Given the description of an element on the screen output the (x, y) to click on. 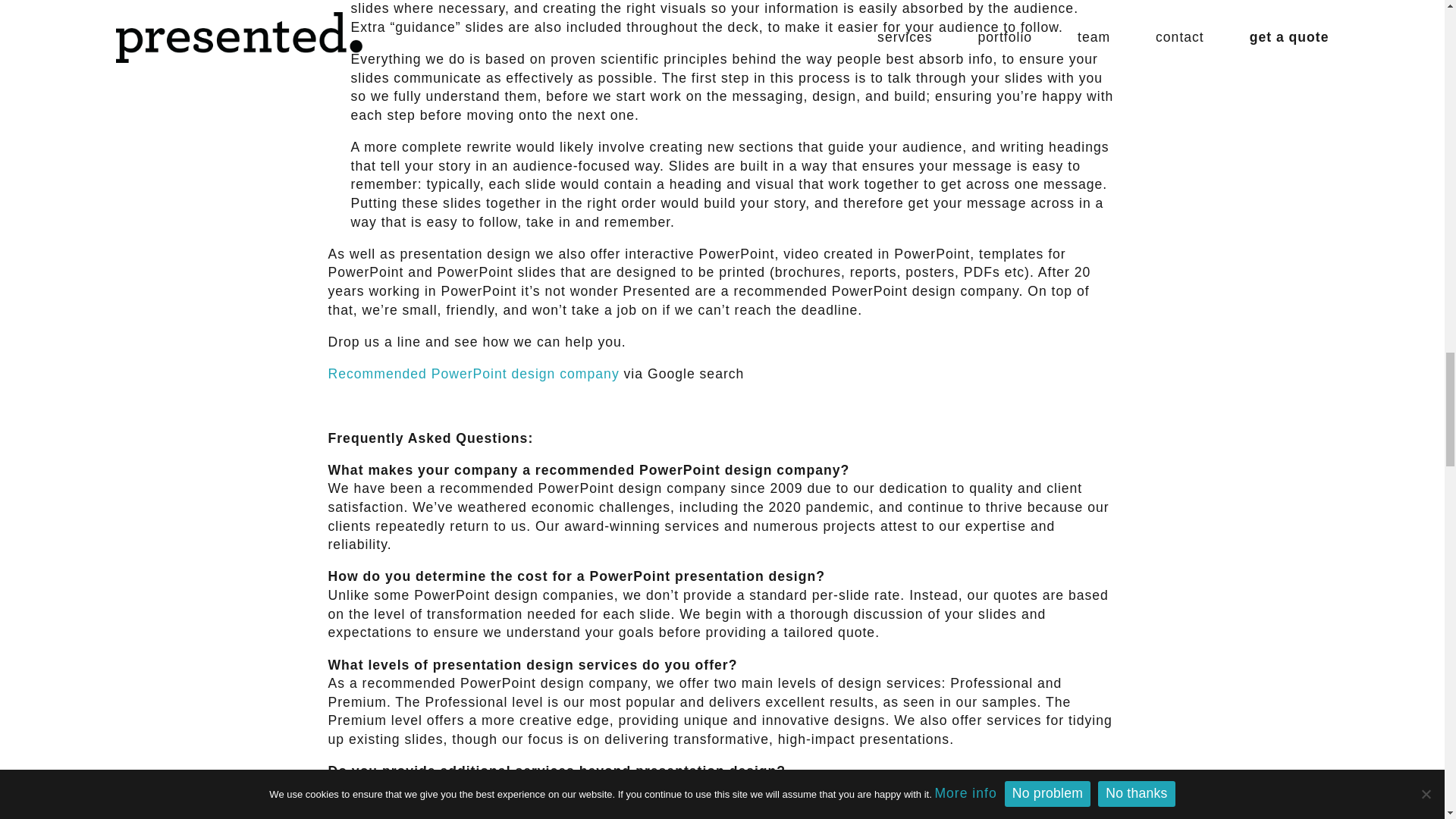
Recommended PowerPoint design company (472, 373)
